Given the description of an element on the screen output the (x, y) to click on. 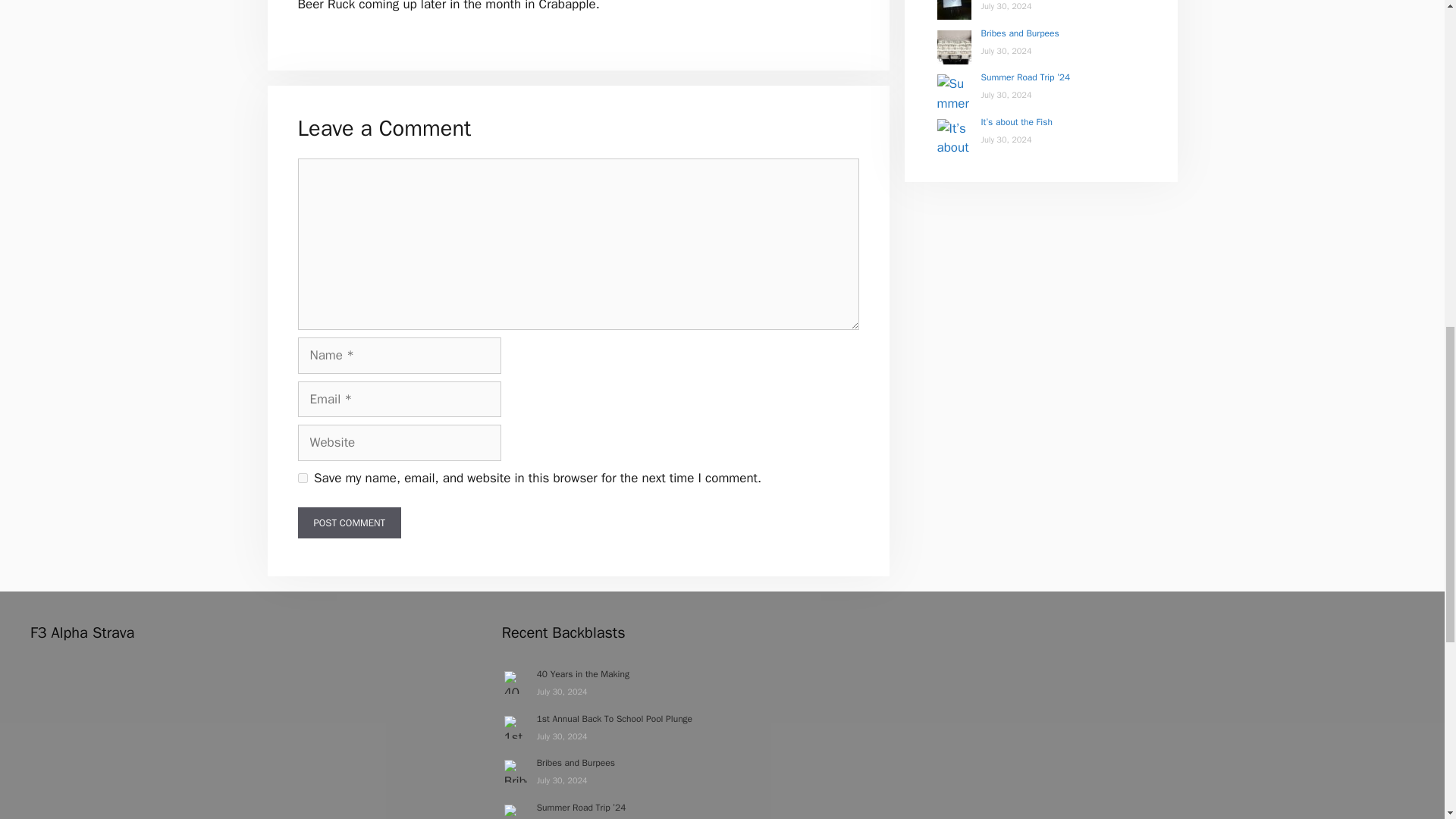
yes (302, 478)
Post Comment (349, 522)
Post Comment (349, 522)
